Given the description of an element on the screen output the (x, y) to click on. 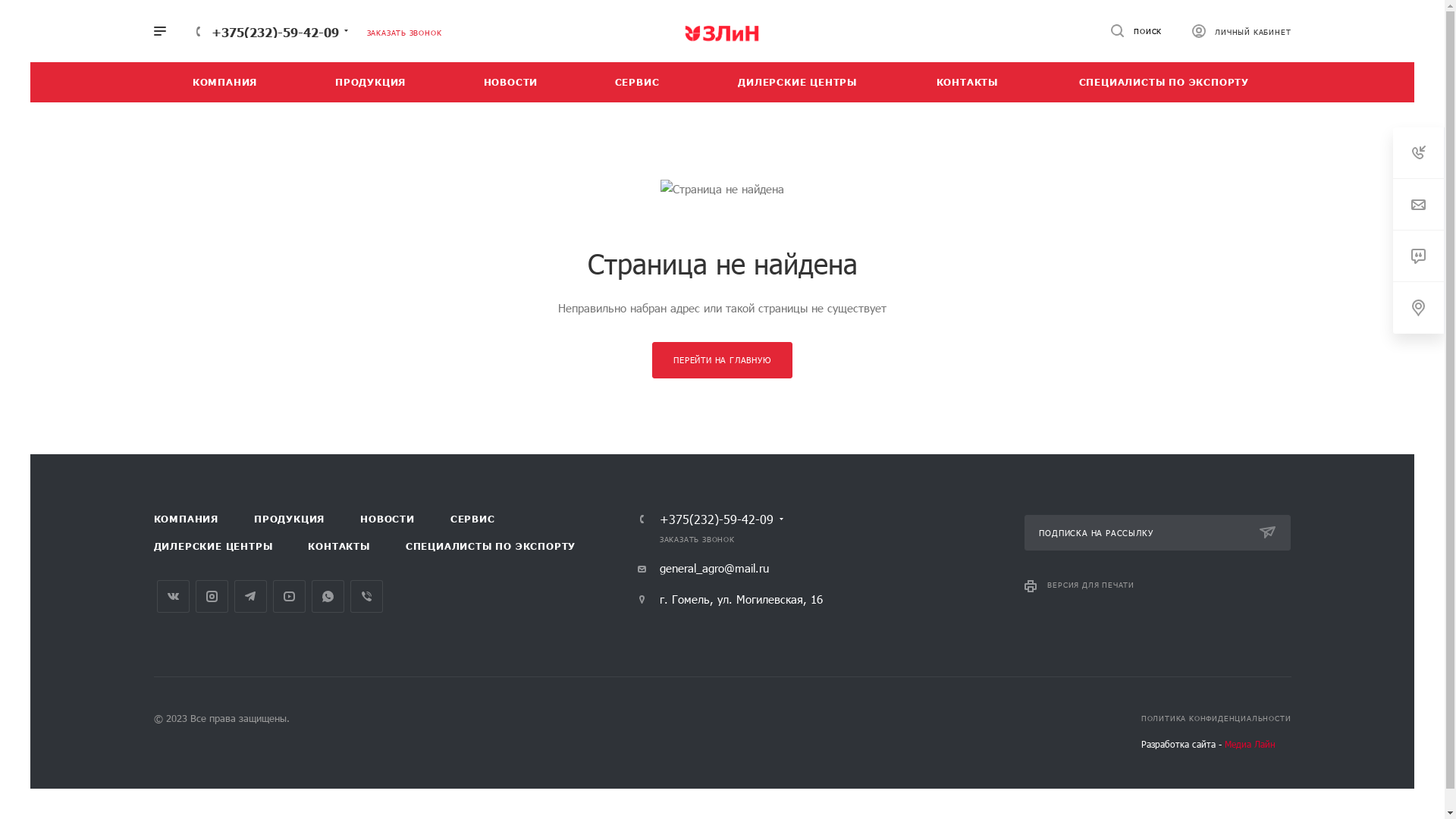
Telegram Element type: text (249, 596)
+375(232)-59-42-09 Element type: text (716, 519)
general_agro@mail.ru Element type: text (702, 567)
Viber Element type: text (366, 596)
+375(232)-59-42-09 Element type: text (274, 31)
Whats App Element type: text (326, 596)
YouTube Element type: text (289, 596)
Instagram Element type: text (211, 596)
